Given the description of an element on the screen output the (x, y) to click on. 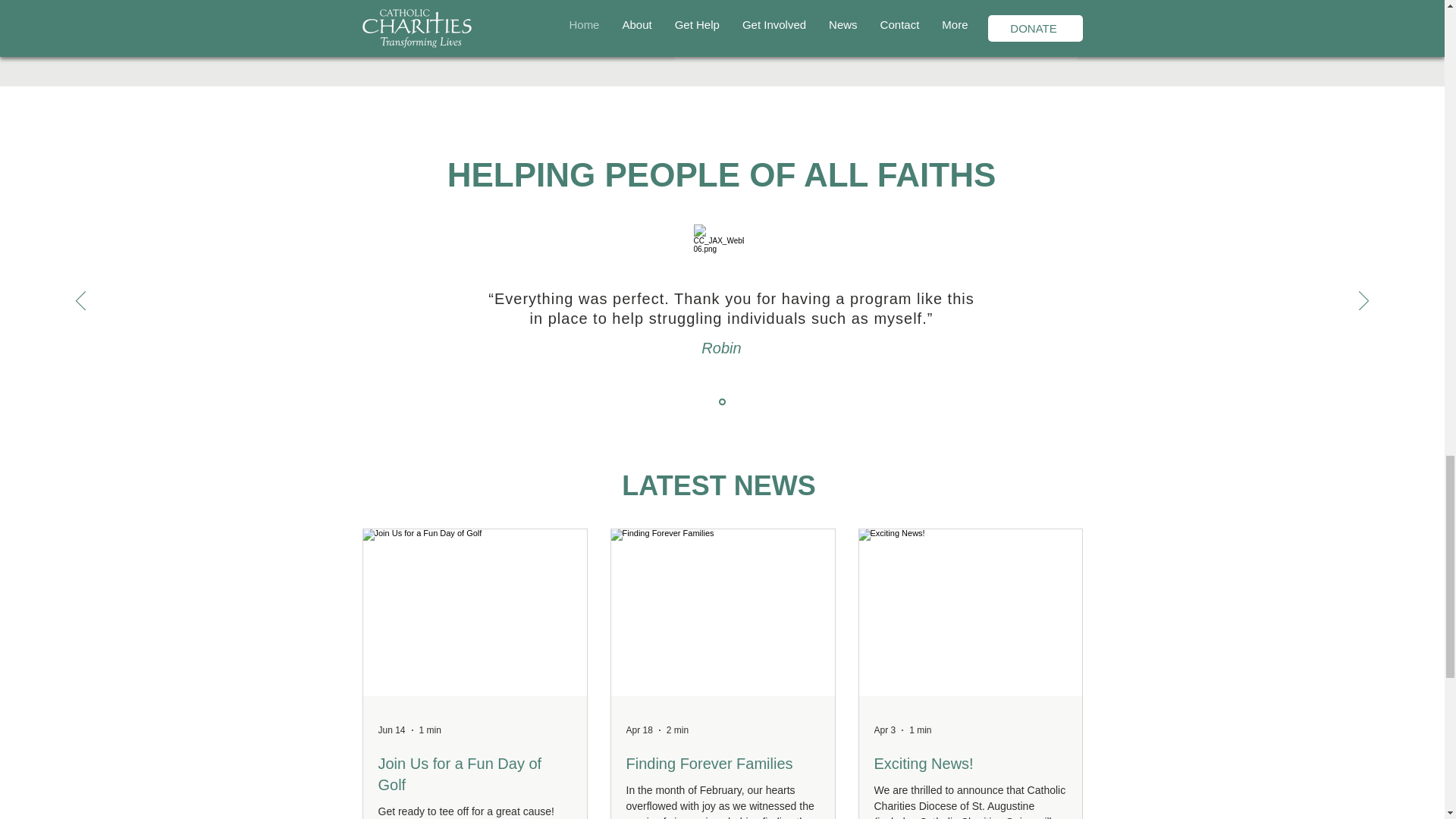
1 min (430, 729)
1 min (919, 729)
2 min (677, 729)
STAY IN TOUCH (1011, 33)
Join Us for a Fun Day of Golf (473, 773)
Apr 18 (639, 729)
Jun 14 (390, 729)
Finding Forever Families (722, 762)
Exciting News! (969, 762)
Apr 3 (884, 729)
